Given the description of an element on the screen output the (x, y) to click on. 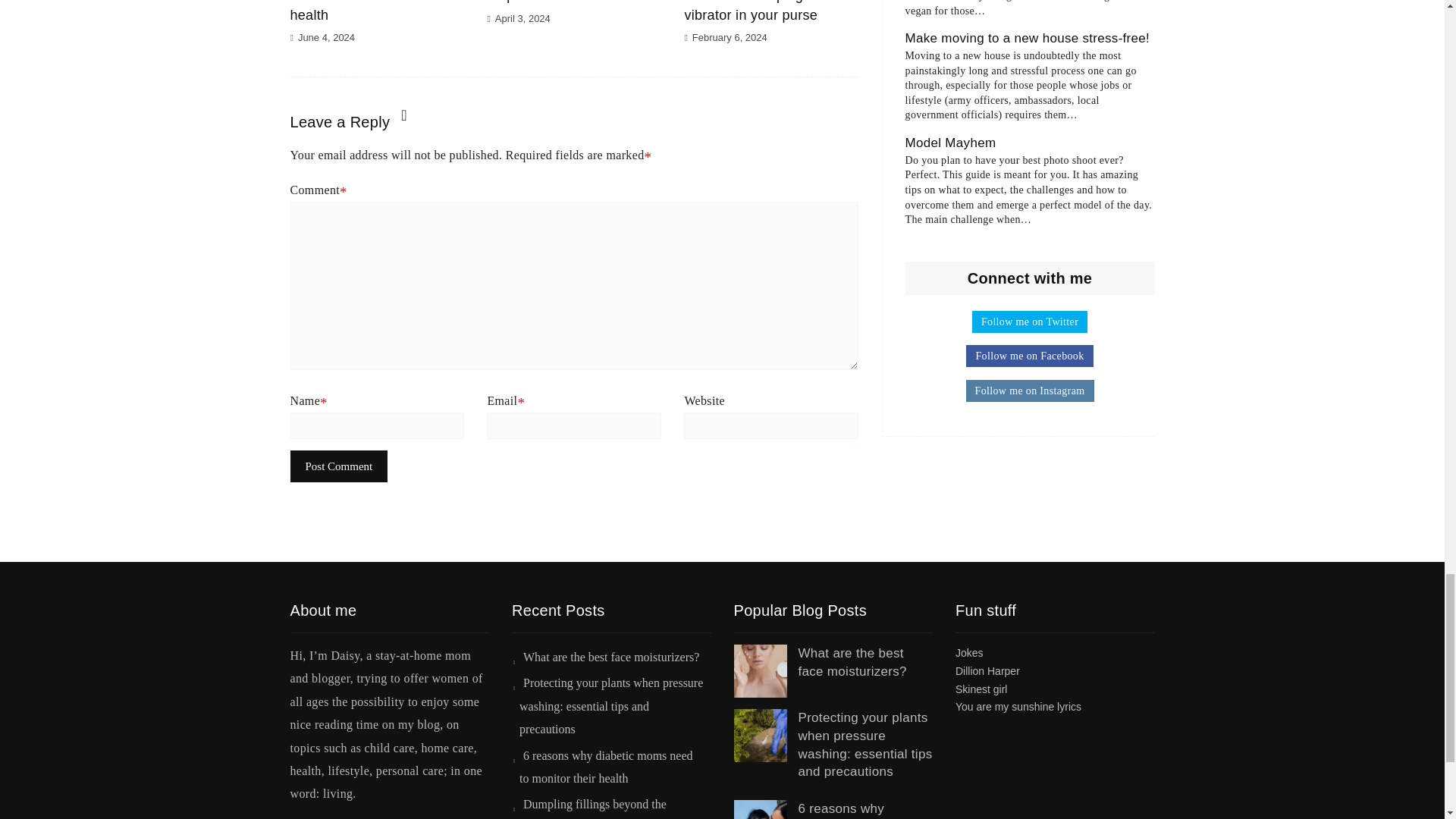
Health benefits of raspberries (541, 1)
6 reasons why diabetic moms need to monitor their health (375, 11)
Post Comment (338, 466)
